Given the description of an element on the screen output the (x, y) to click on. 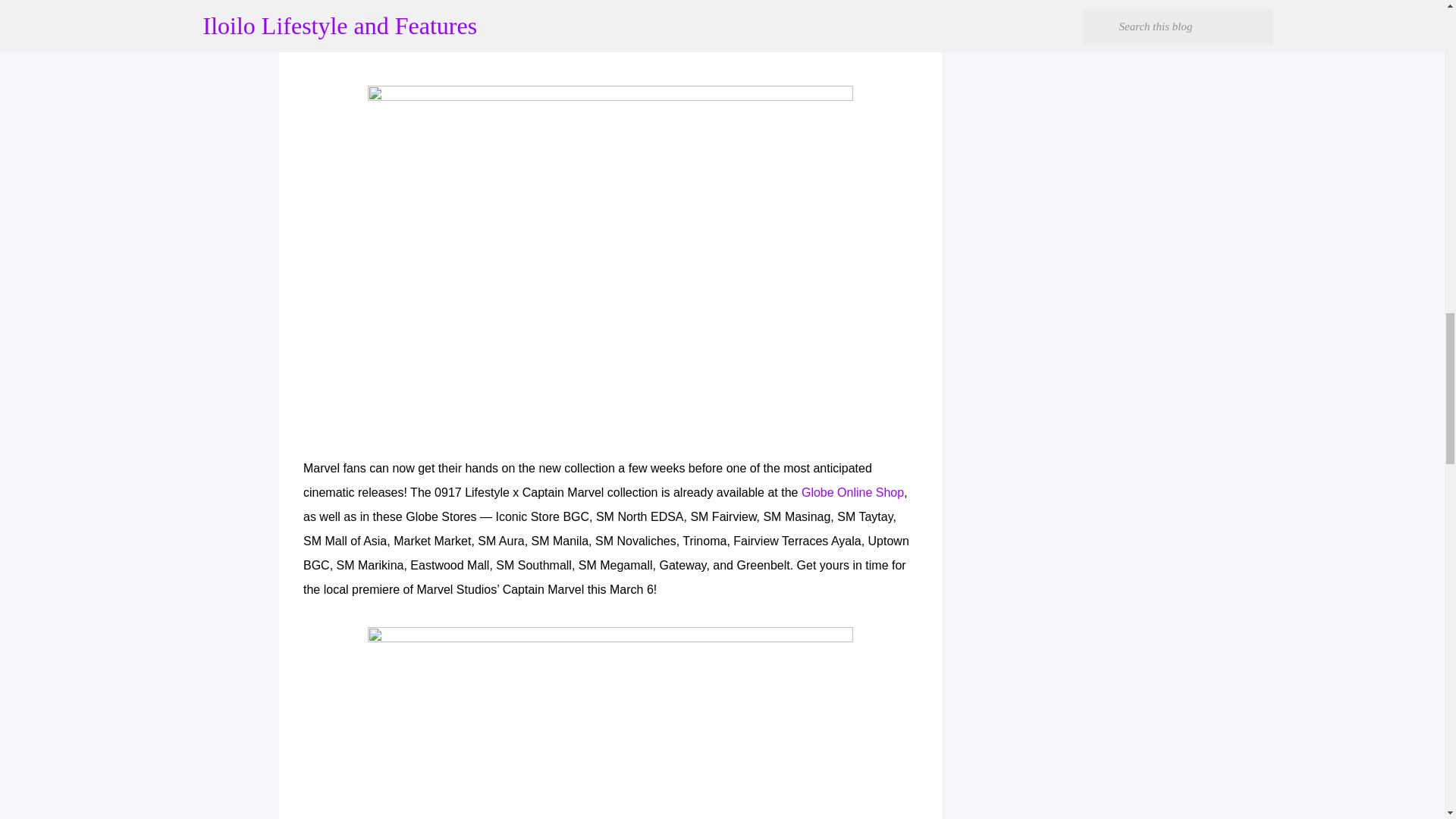
Globe Online Shop (853, 492)
